Given the description of an element on the screen output the (x, y) to click on. 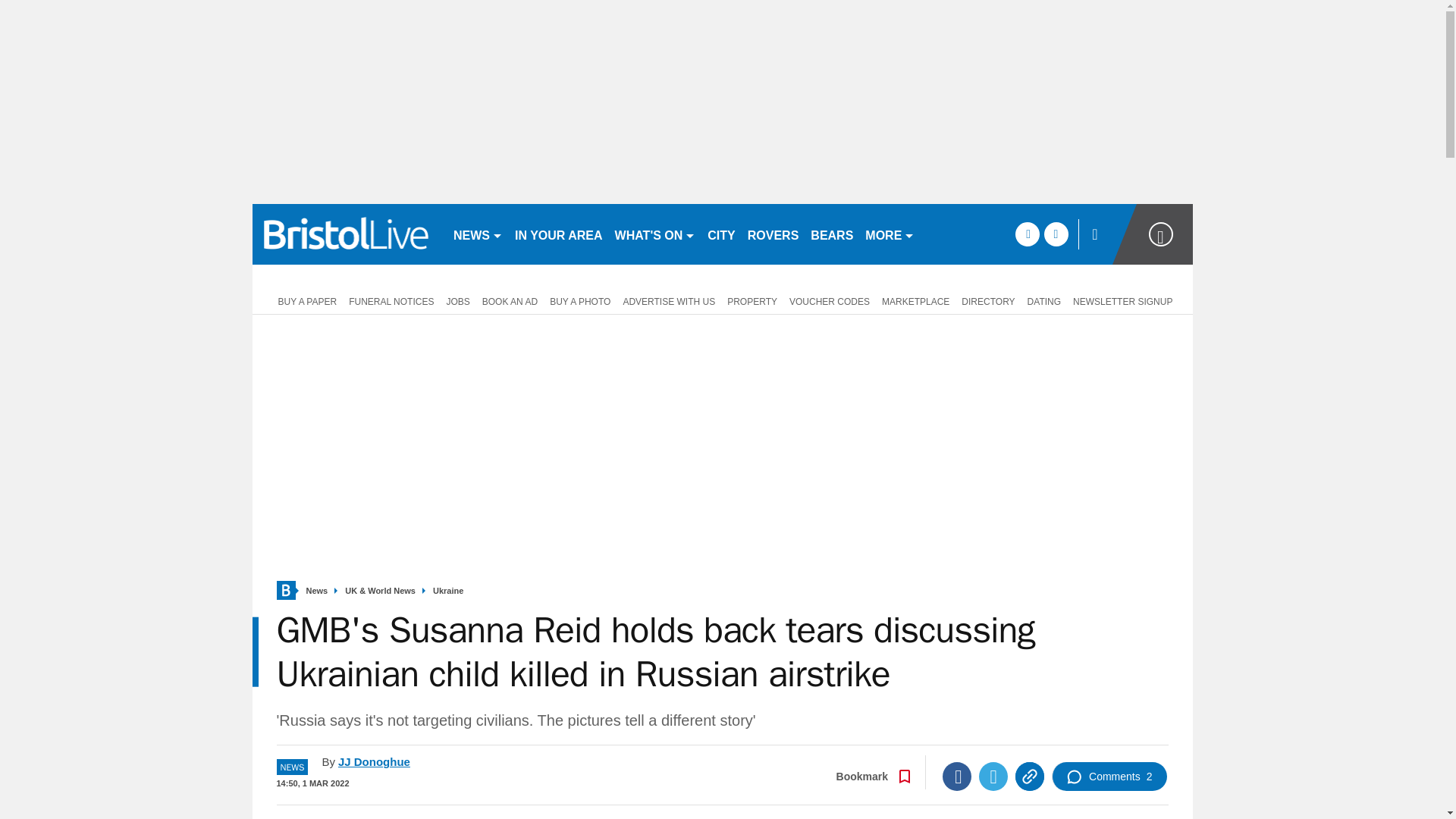
Twitter (992, 776)
MORE (889, 233)
ROVERS (773, 233)
BEARS (832, 233)
WHAT'S ON (654, 233)
bristolpost (345, 233)
twitter (1055, 233)
Facebook (956, 776)
IN YOUR AREA (558, 233)
NEWS (477, 233)
